Given the description of an element on the screen output the (x, y) to click on. 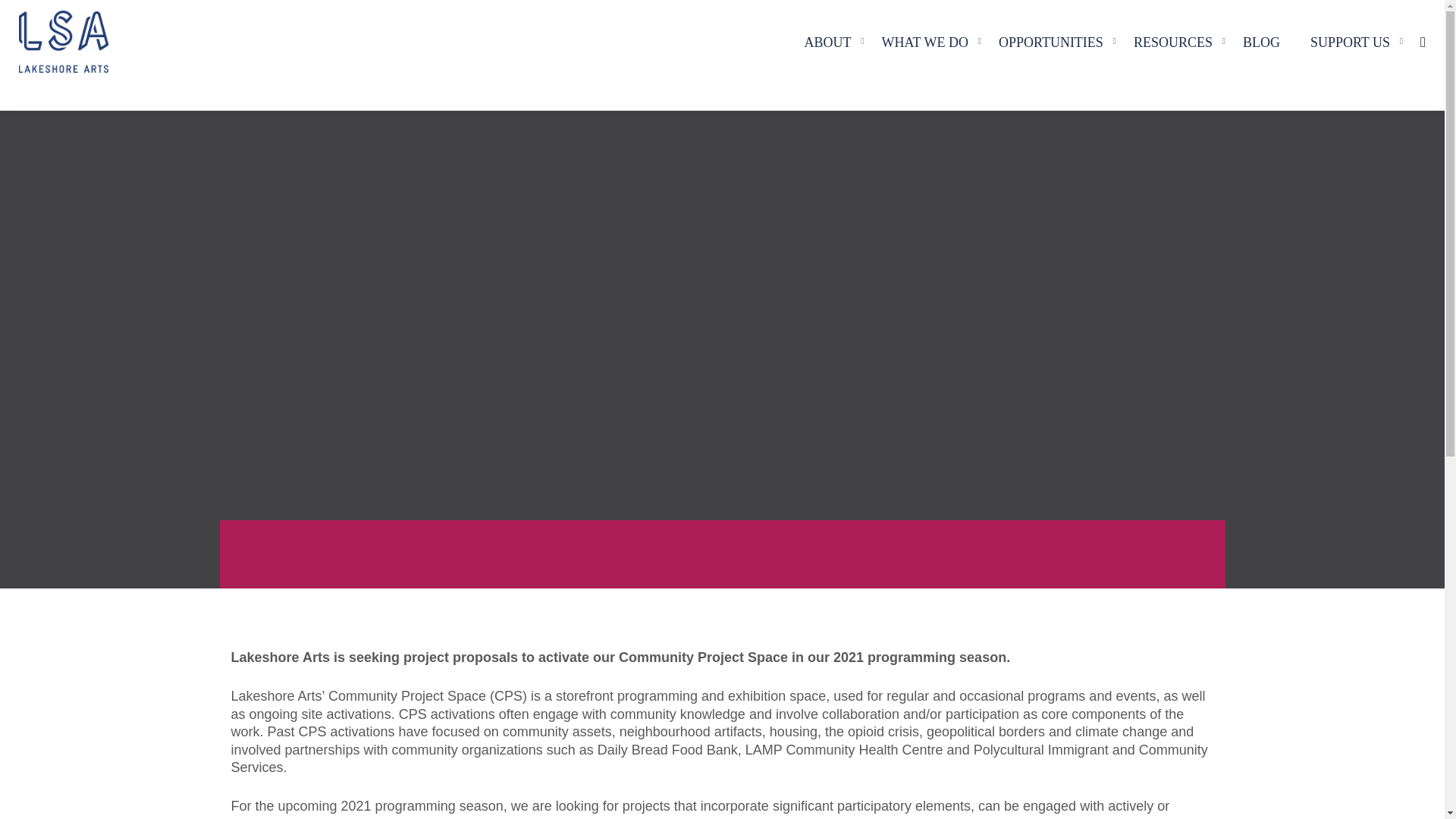
OPPORTUNITIES (1051, 41)
ABOUT (827, 41)
SUPPORT US (1350, 41)
BLOG (1261, 41)
WHAT WE DO (925, 41)
RESOURCES (1172, 41)
